Given the description of an element on the screen output the (x, y) to click on. 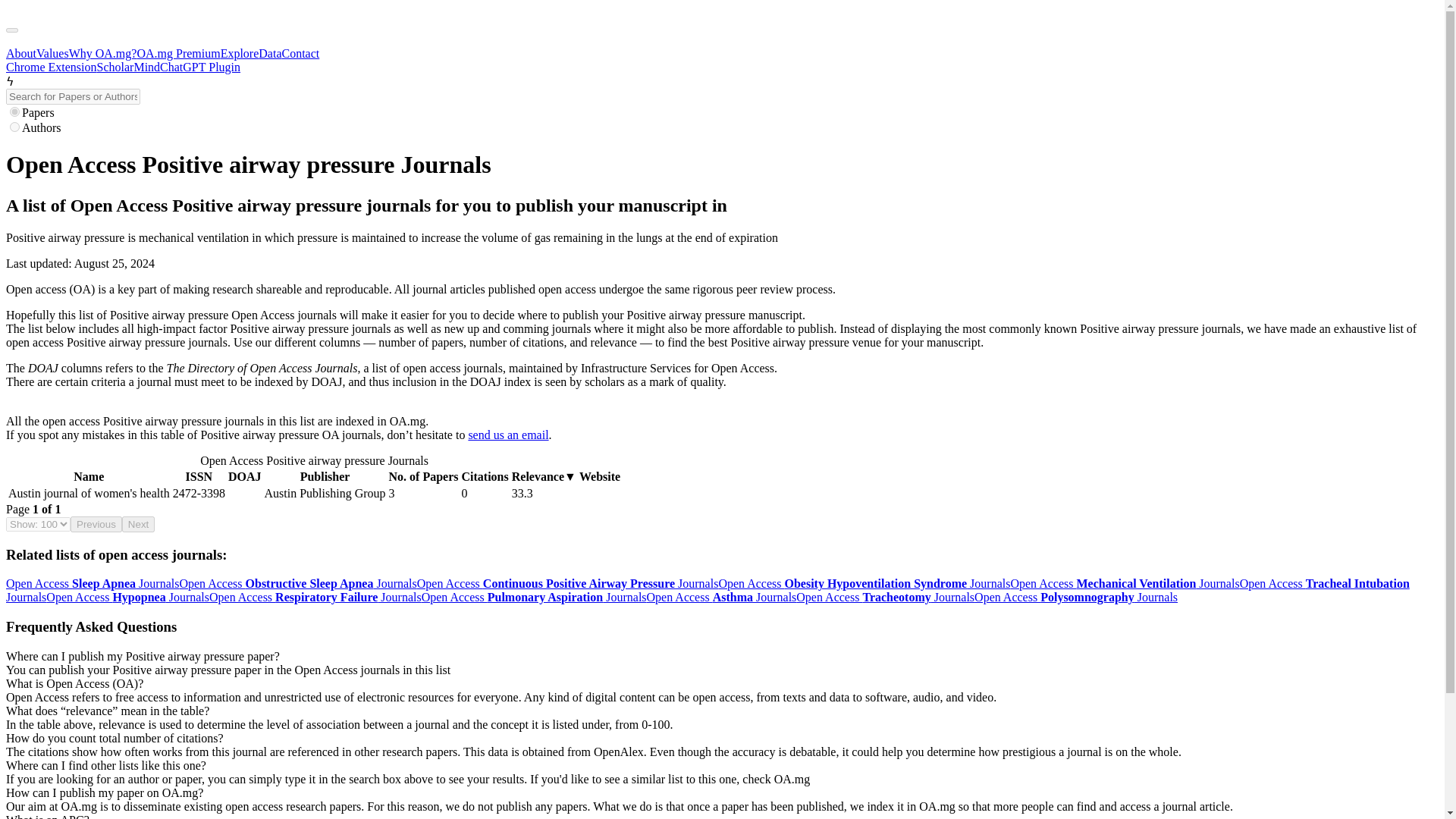
Values (52, 52)
ChatGPT Plugin (200, 66)
Chrome Extension (51, 66)
Open Access Mechanical Ventilation Journals (1124, 583)
Data (270, 52)
Next (138, 524)
Open Access Pulmonary Aspiration Journals (534, 596)
Open Access Asthma Journals (721, 596)
ScholarMind (128, 66)
Open Access Tracheotomy Journals (885, 596)
